Given the description of an element on the screen output the (x, y) to click on. 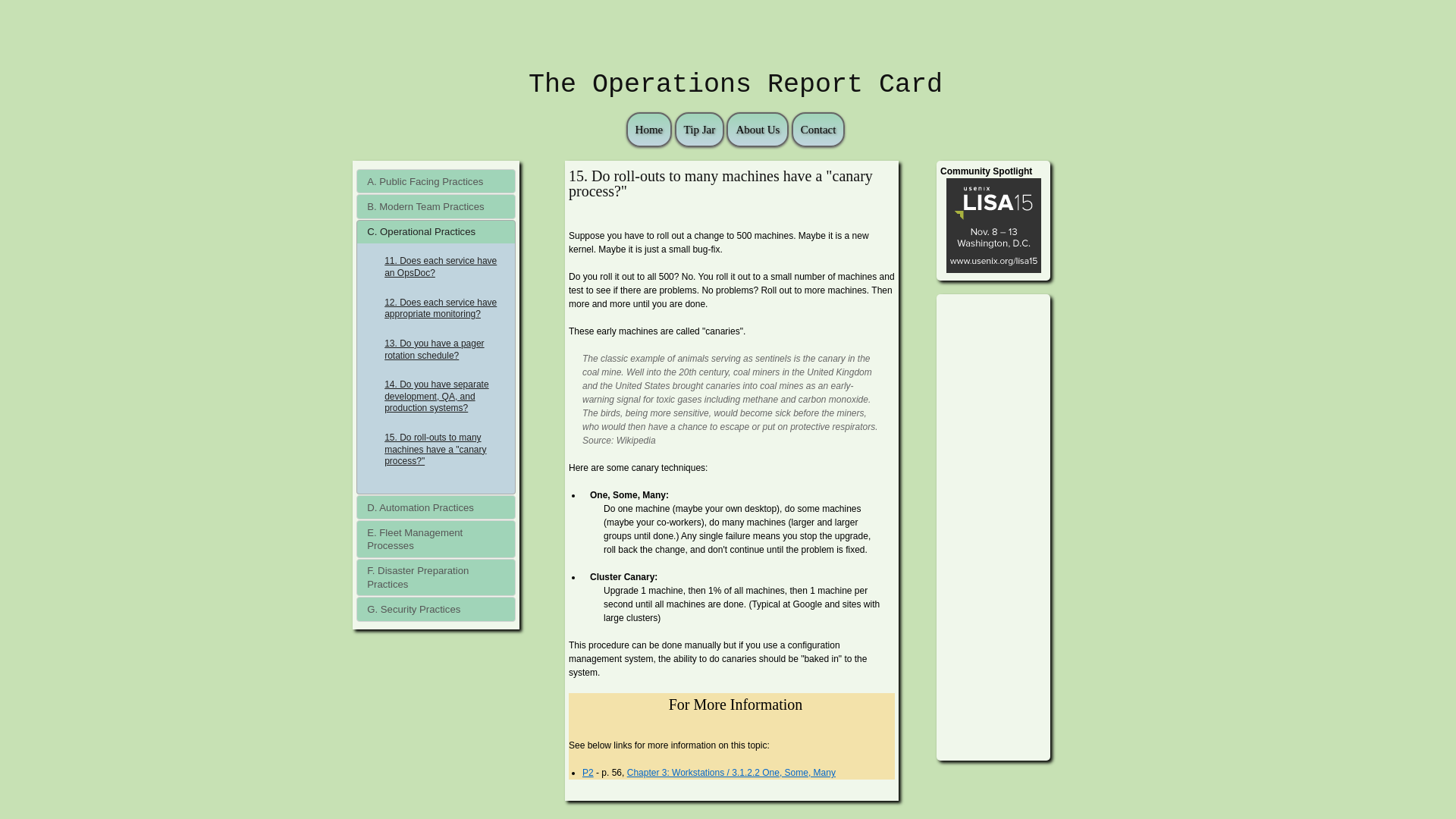
F. Disaster Preparation Practices (435, 577)
A. Public Facing Practices (435, 180)
D. Automation Practices (435, 507)
Tip Jar (700, 129)
Home (649, 129)
About Us (757, 129)
G. Security Practices (435, 608)
13. Do you have a pager rotation schedule? (435, 355)
Contact (818, 129)
12. Does each service have appropriate monitoring? (435, 314)
